Given the description of an element on the screen output the (x, y) to click on. 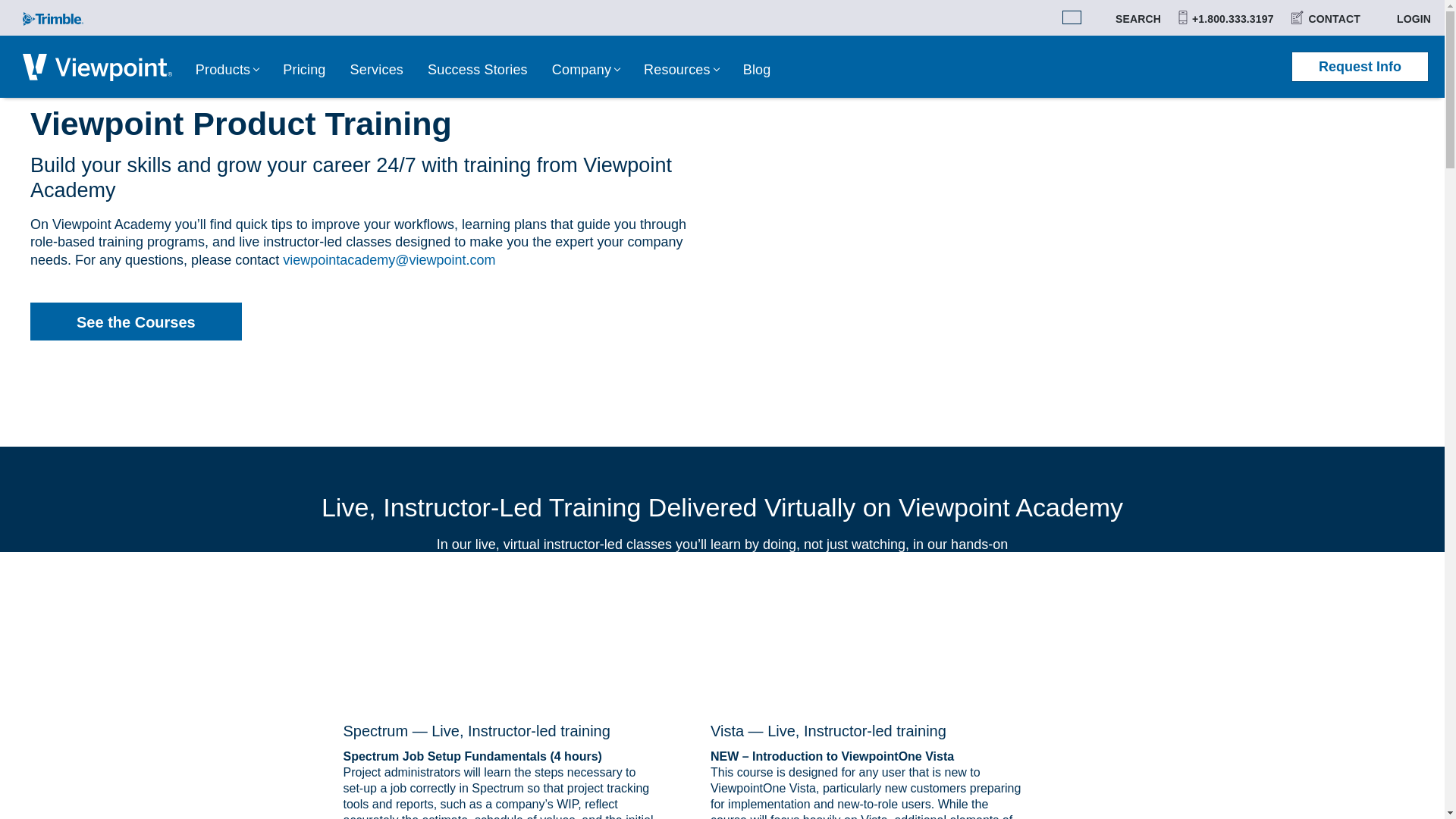
LOGIN (1402, 17)
Products (226, 71)
SEARCH (1128, 17)
CONTACT (1323, 17)
